Given the description of an element on the screen output the (x, y) to click on. 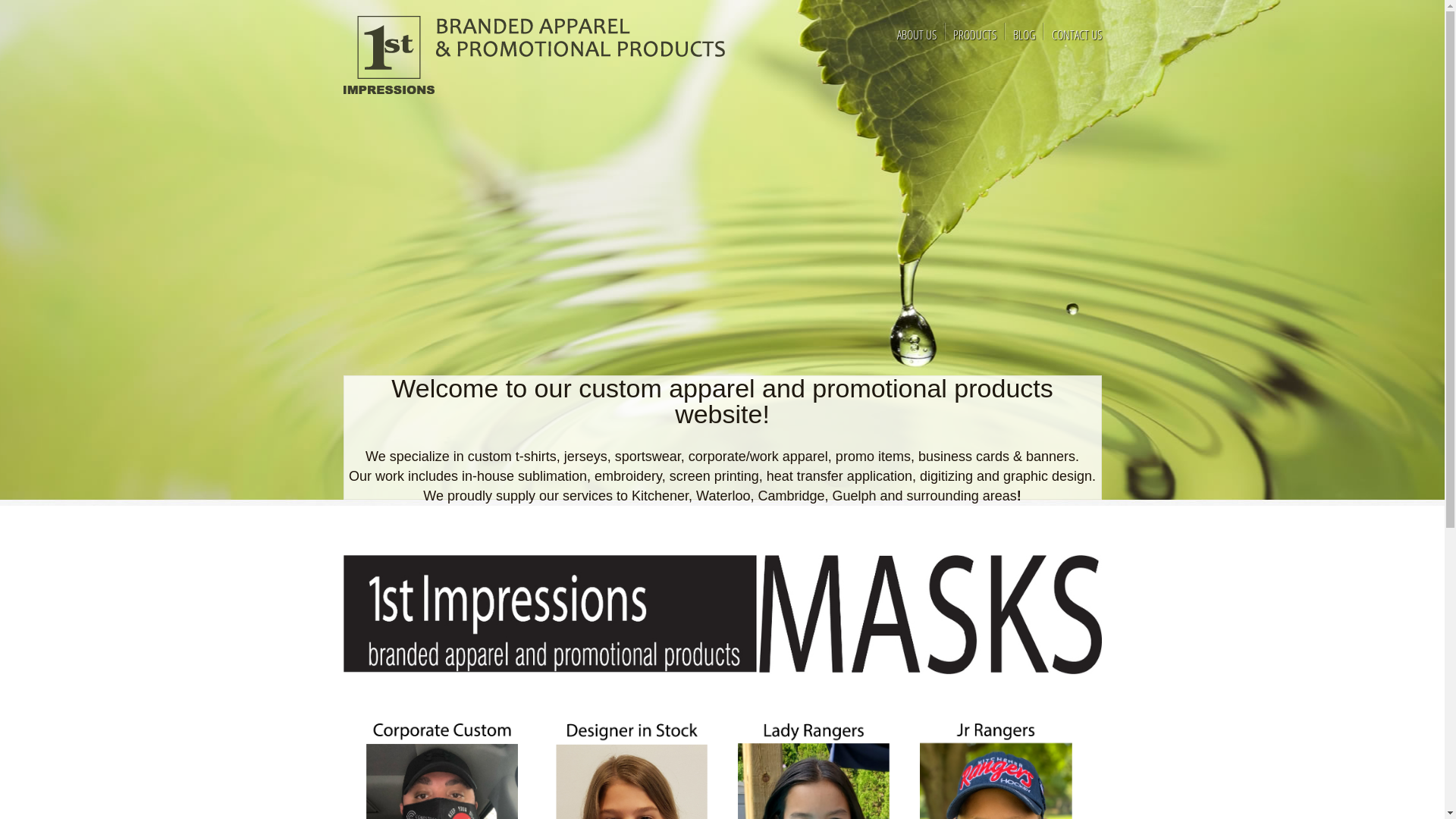
CONTACT US Element type: text (1076, 34)
ABOUT US Element type: text (915, 34)
BLOG Element type: text (1024, 34)
PRODUCTS Element type: text (973, 34)
